Given the description of an element on the screen output the (x, y) to click on. 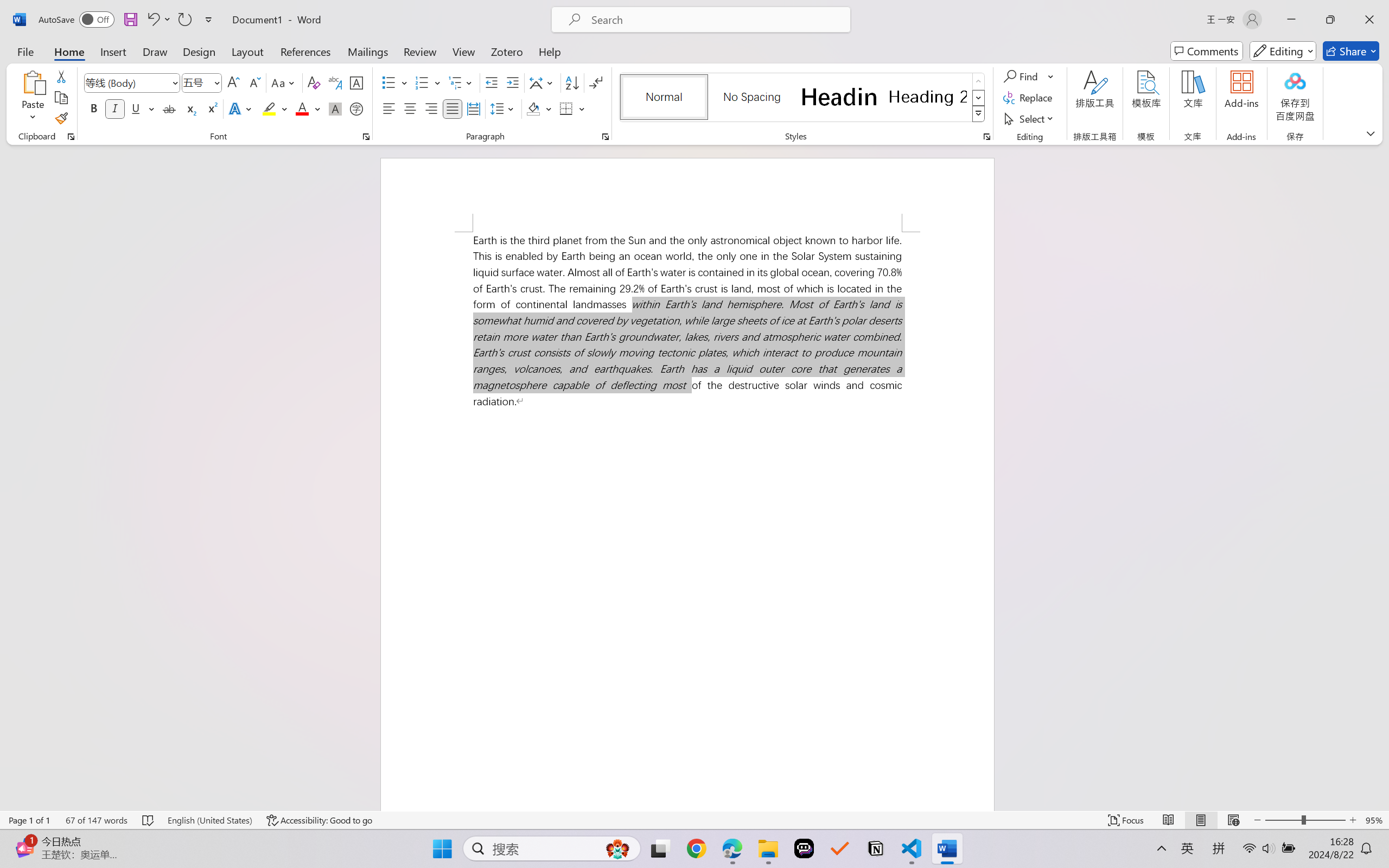
Shrink Font (253, 82)
Shading RGB(0, 0, 0) (533, 108)
Undo Italic (158, 19)
Class: MsoCommandBar (694, 819)
Format Painter (60, 118)
Character Shading (334, 108)
Strikethrough (169, 108)
